Given the description of an element on the screen output the (x, y) to click on. 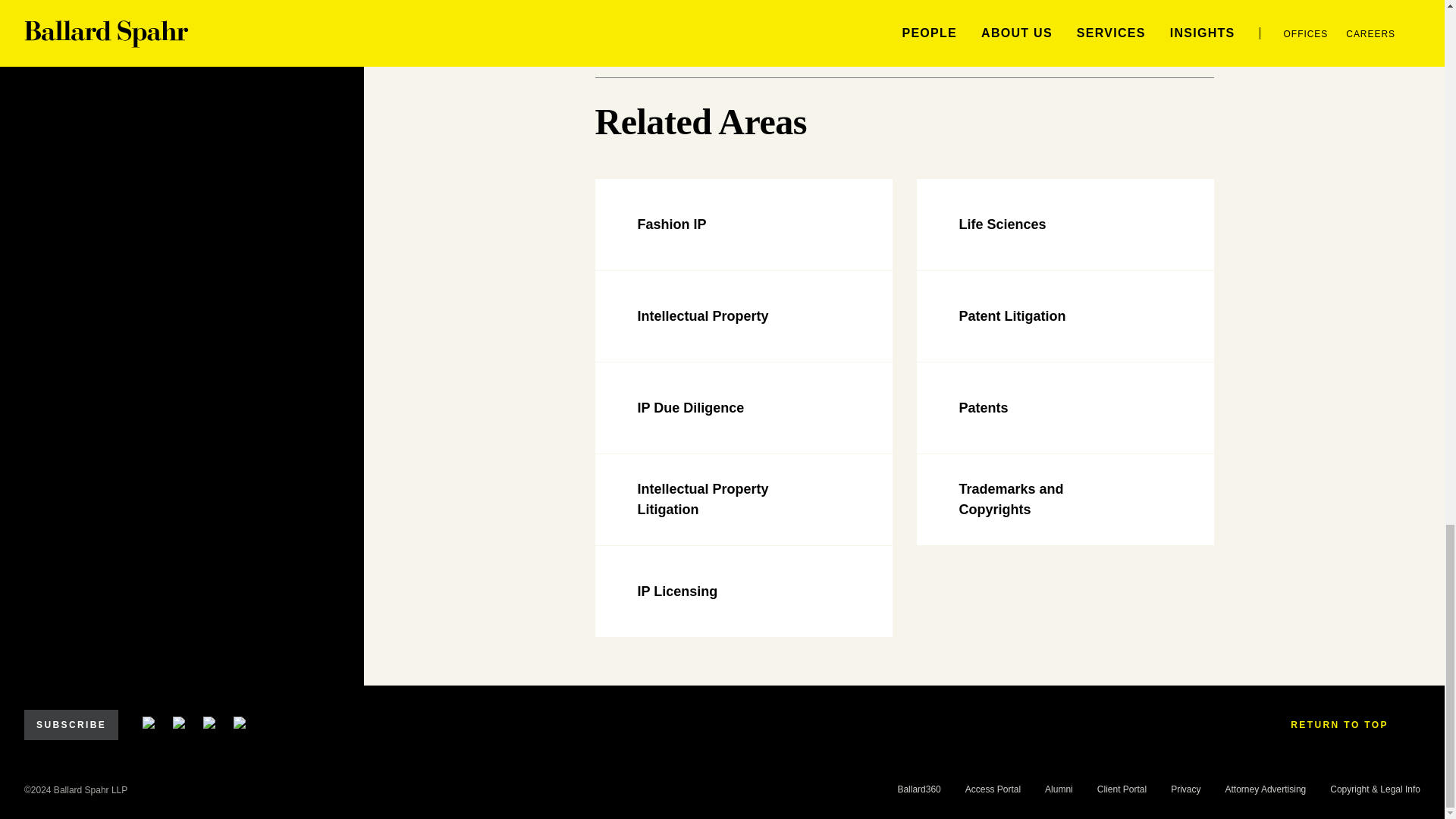
Fashion IP (742, 224)
Intellectual Property (742, 316)
Trademarks and Copyrights (1063, 499)
Alumni (1059, 788)
VIEW ALL PEOPLE IN THIS PRACTICE (754, 2)
Access Portal (992, 788)
Patents (1063, 407)
SUBSCRIBE (70, 725)
Ballard360 (918, 788)
Intellectual Property Litigation (742, 499)
IP Due Diligence (742, 407)
Patent Litigation (1063, 316)
IP Licensing (742, 591)
Life Sciences (1063, 224)
RETURN TO TOP (1349, 725)
